Given the description of an element on the screen output the (x, y) to click on. 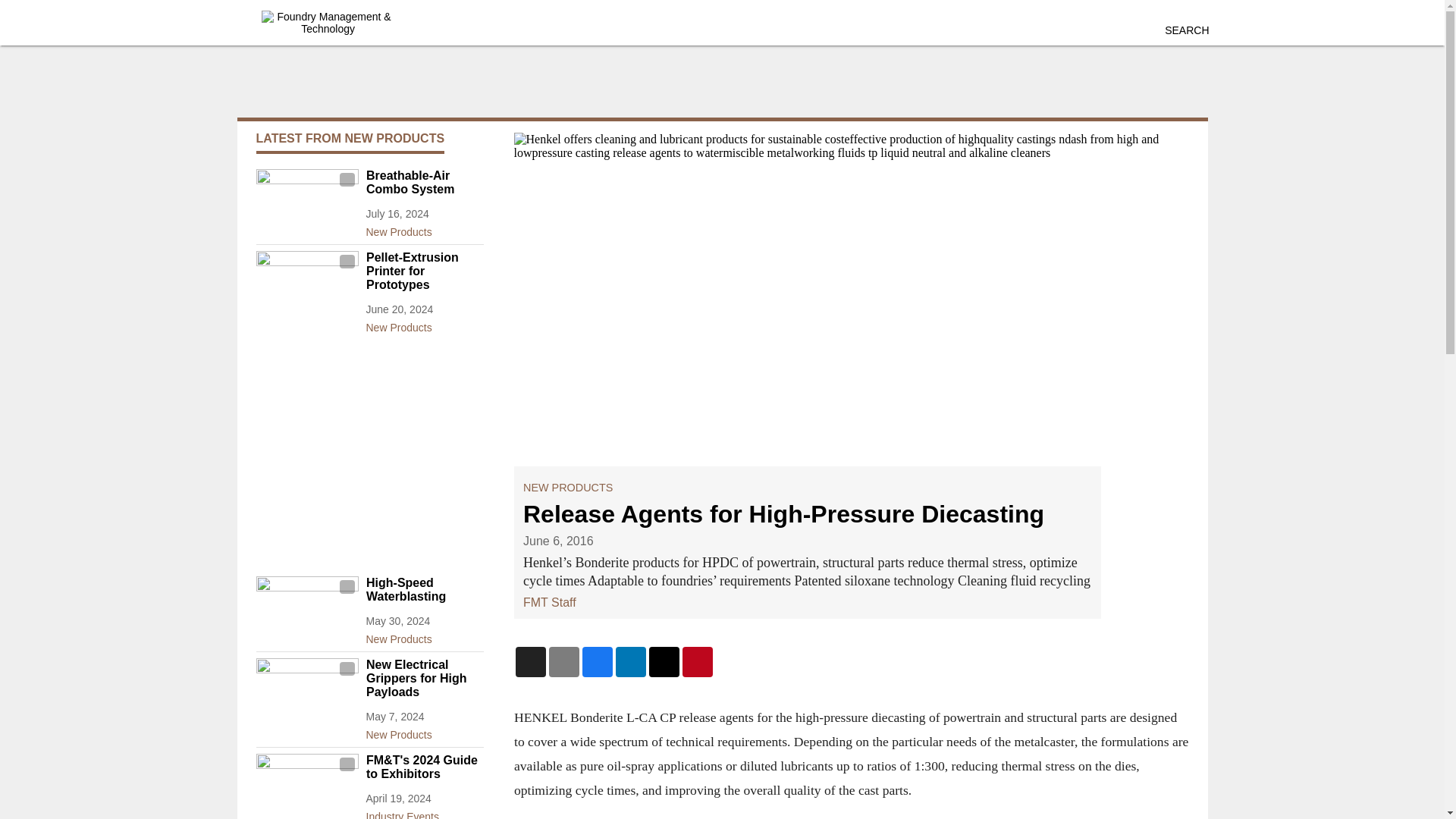
New Products (424, 731)
New Products (424, 636)
New Electrical Grippers for High Payloads (424, 678)
SEARCH (1186, 30)
High-Speed Waterblasting (424, 589)
Pellet-Extrusion Printer for Prototypes (424, 270)
Breathable-Air Combo System (424, 182)
New Products (424, 324)
NEW PRODUCTS (567, 487)
